Given the description of an element on the screen output the (x, y) to click on. 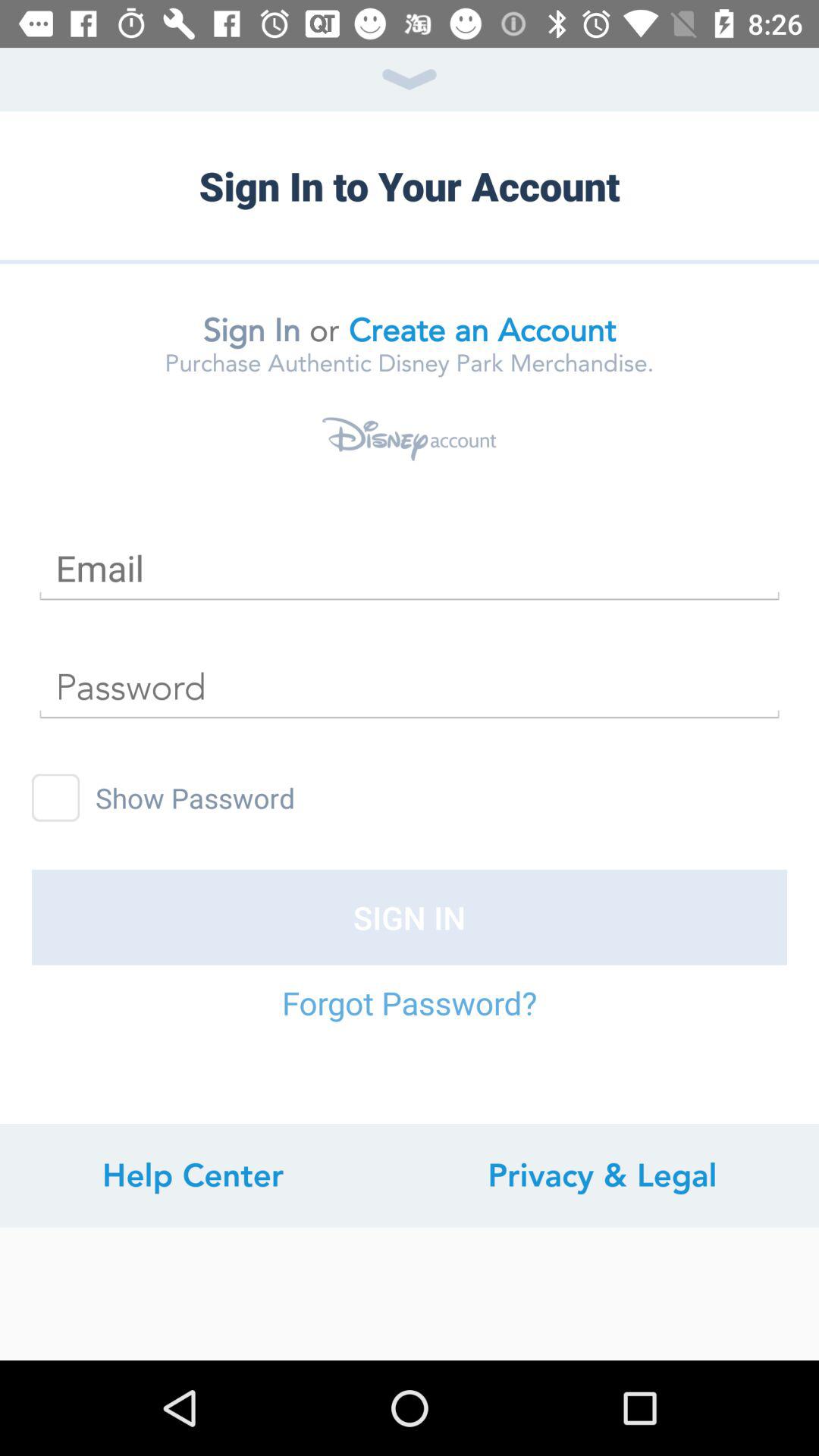
tick to show password (55, 797)
